Given the description of an element on the screen output the (x, y) to click on. 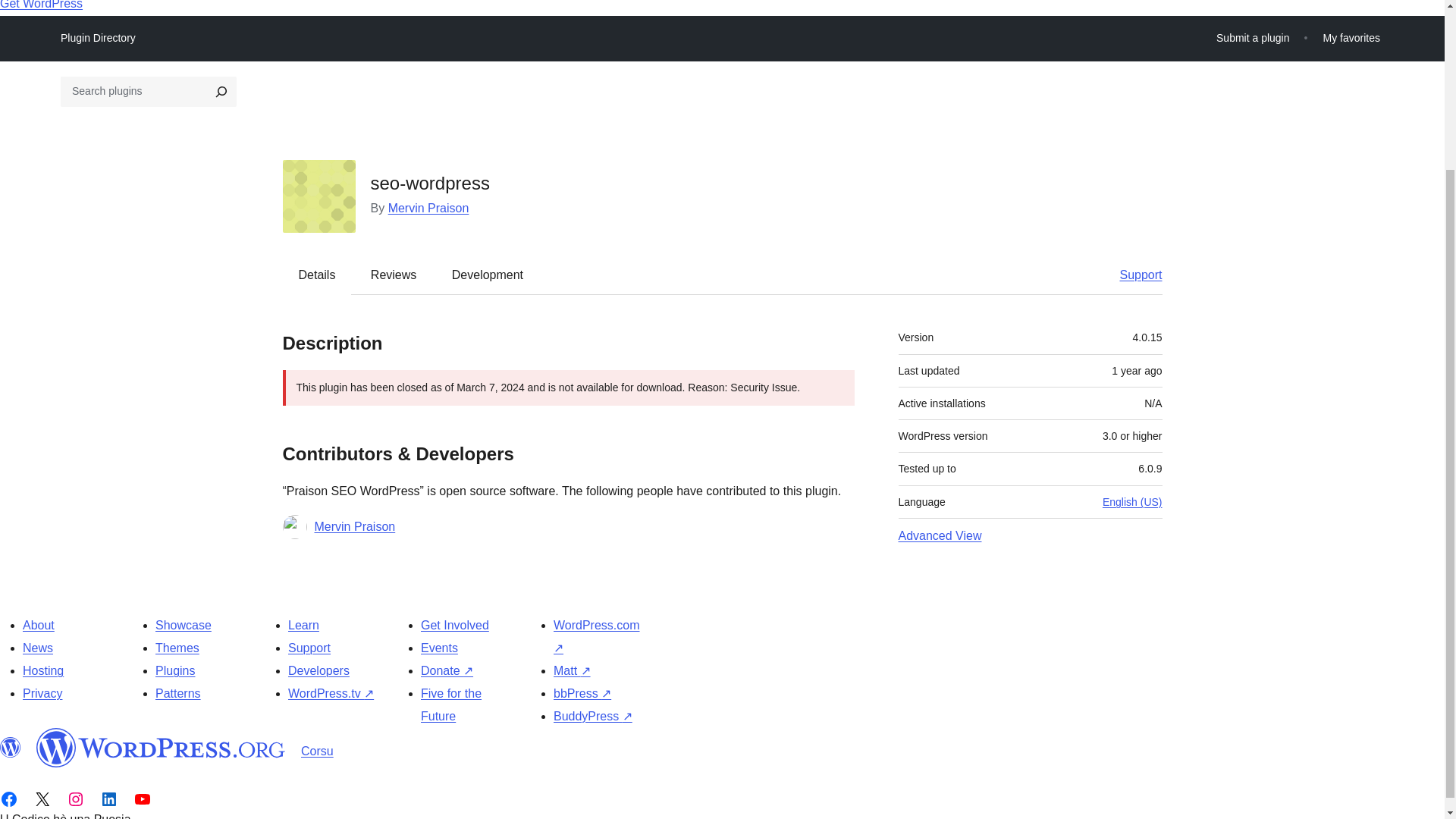
Get WordPress (41, 4)
Details (316, 275)
Submit a plugin (1253, 38)
Mervin Praison (354, 526)
Reviews (392, 275)
WordPress.org (160, 747)
Development (487, 275)
Plugin Directory (97, 37)
My favorites (1351, 38)
WordPress.org (10, 747)
